Given the description of an element on the screen output the (x, y) to click on. 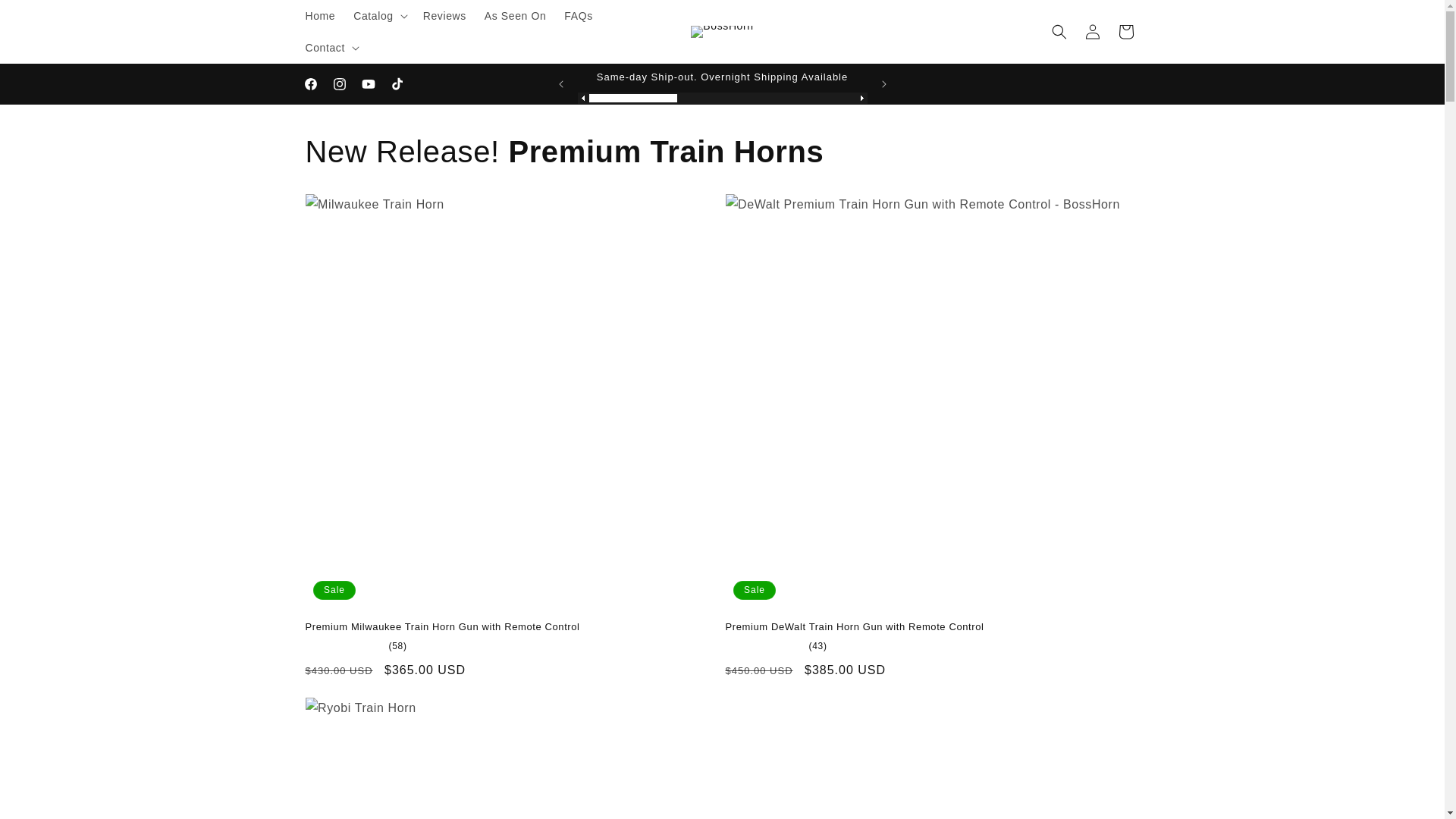
Home (319, 15)
Skip to content (47, 18)
As Seen On (516, 15)
Reviews (444, 15)
